Given the description of an element on the screen output the (x, y) to click on. 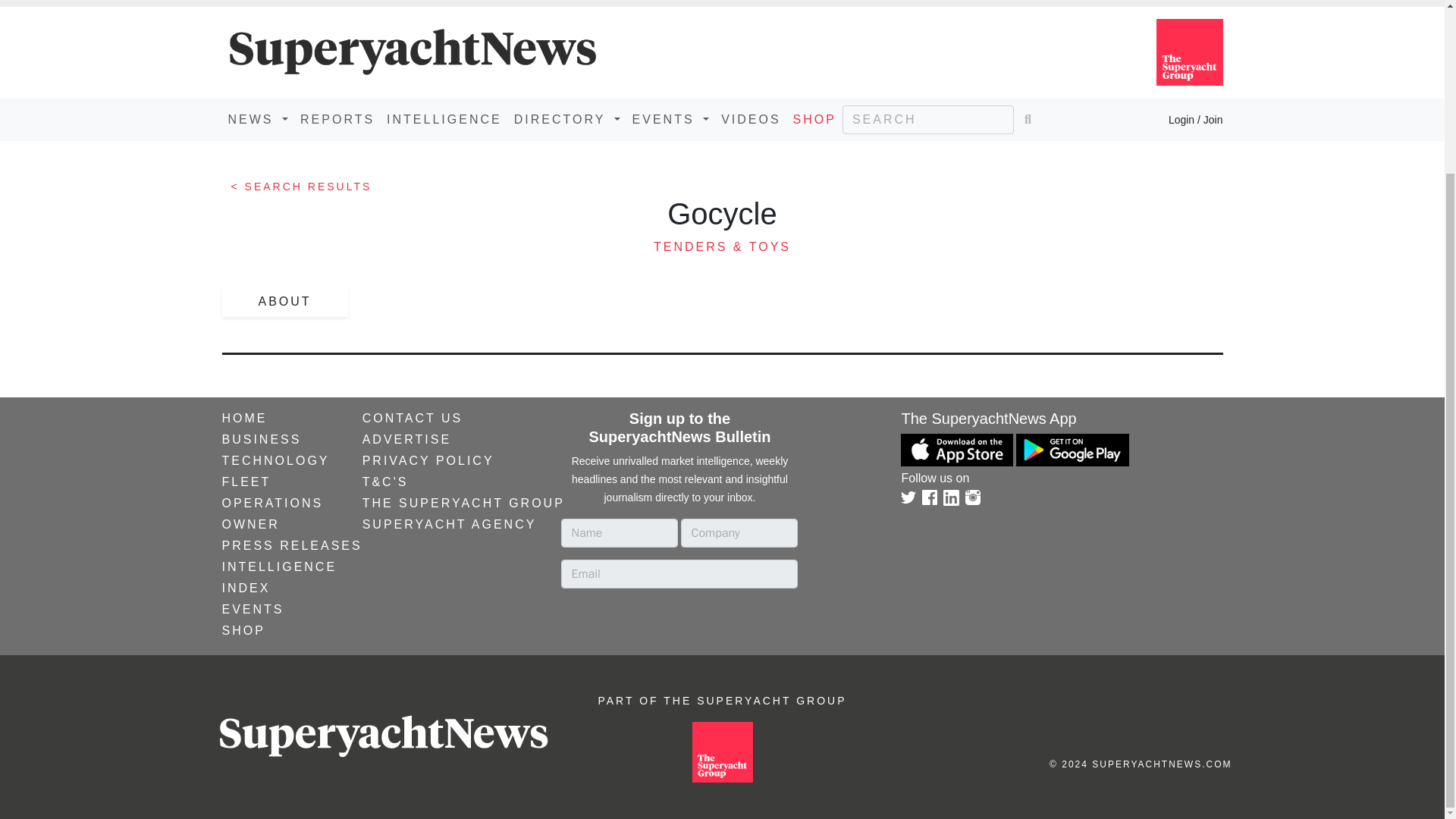
INTELLIGENCE (444, 119)
EVENTS (671, 119)
DIRECTORY (567, 119)
SHOP (815, 119)
ABOUT (284, 301)
REPORTS (337, 119)
VIDEOS (750, 119)
NEWS (257, 119)
